Given the description of an element on the screen output the (x, y) to click on. 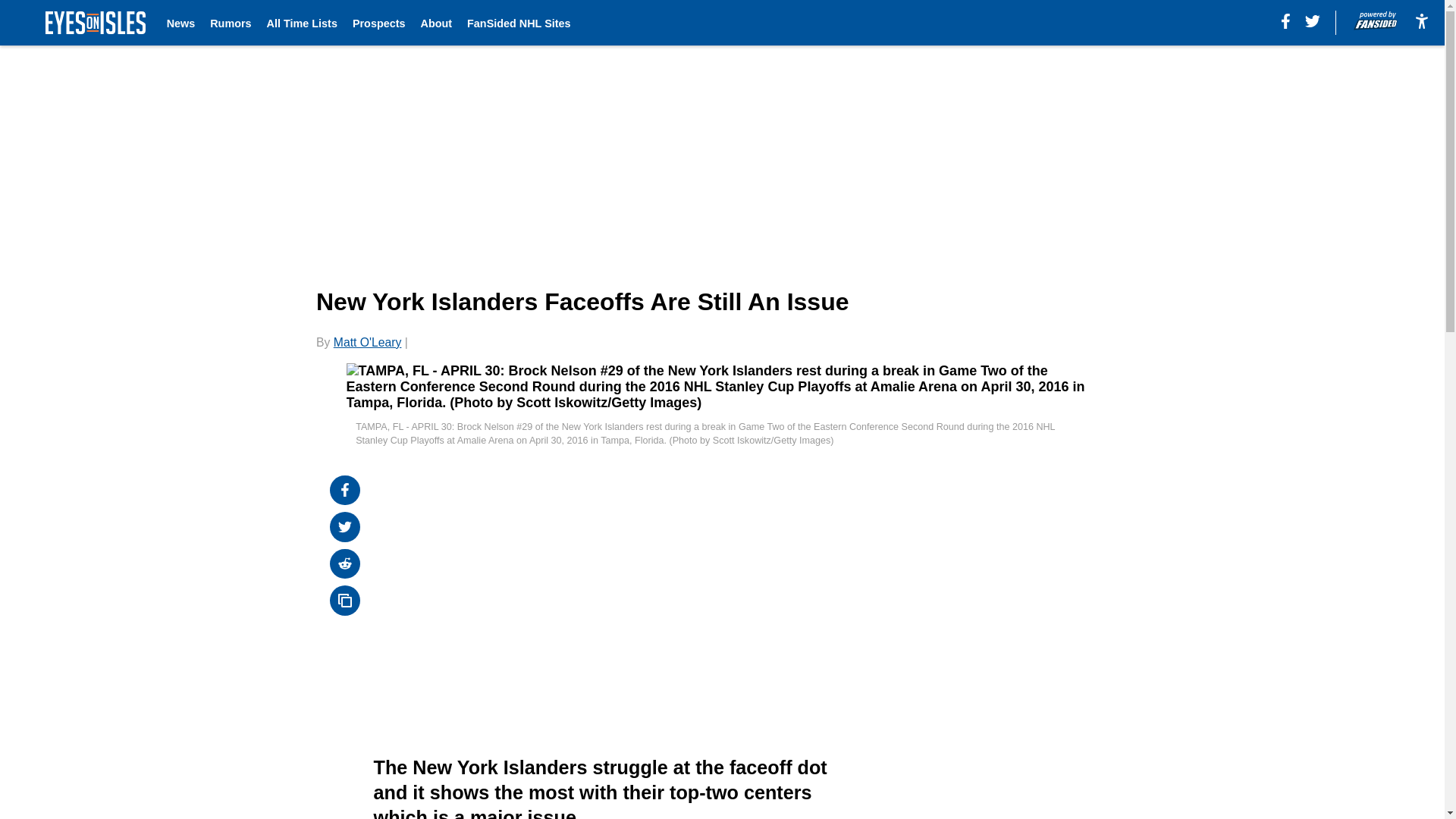
Prospects (379, 23)
Rumors (229, 23)
Matt O'Leary (367, 341)
News (181, 23)
About (435, 23)
FanSided NHL Sites (518, 23)
All Time Lists (301, 23)
